Given the description of an element on the screen output the (x, y) to click on. 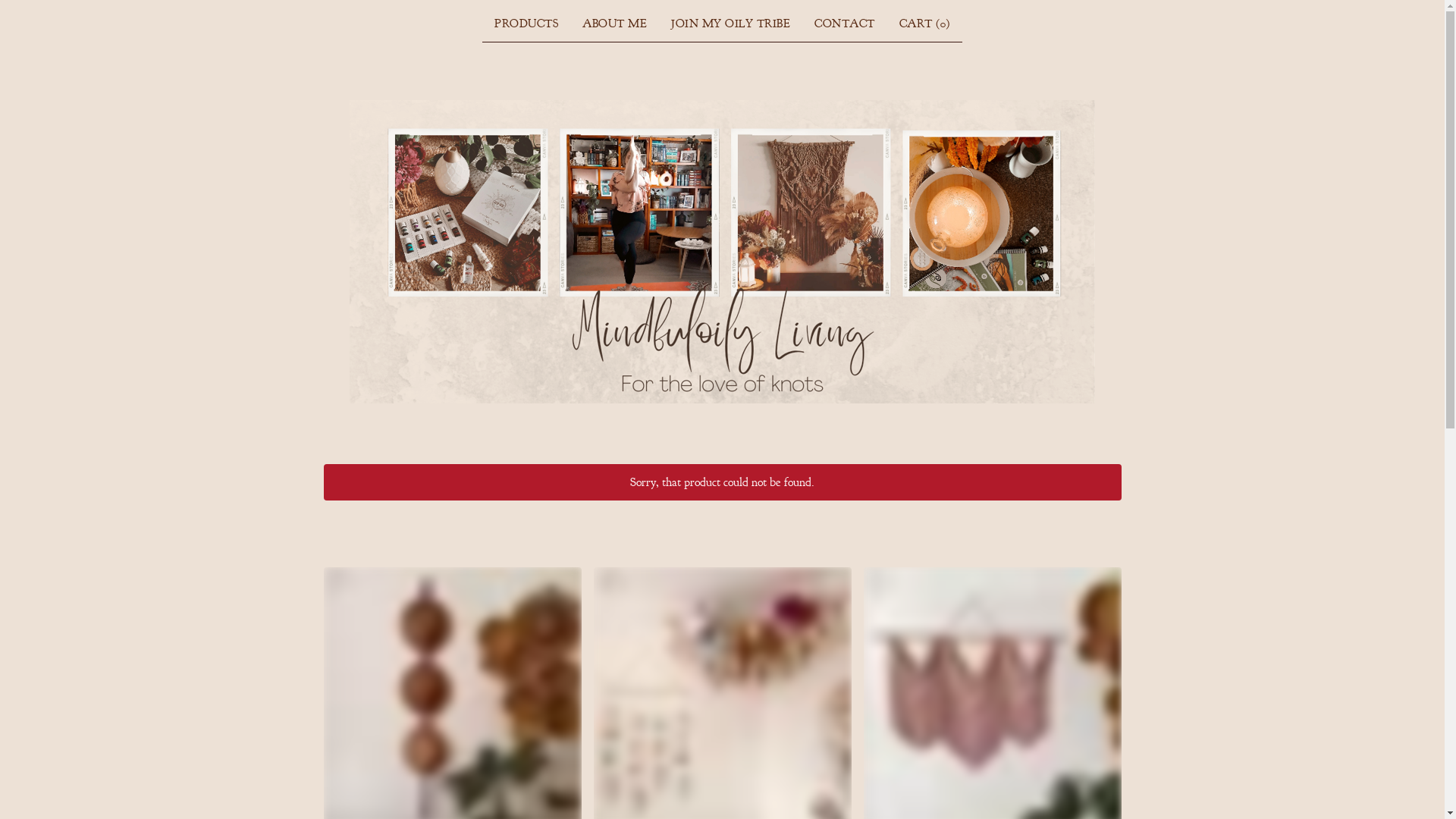
CONTACT Element type: text (844, 23)
PRODUCTS Element type: text (526, 23)
CART (0) Element type: text (924, 23)
Home Element type: hover (722, 251)
JOIN MY OILY TRIBE Element type: text (730, 23)
ABOUT ME Element type: text (614, 23)
